Given the description of an element on the screen output the (x, y) to click on. 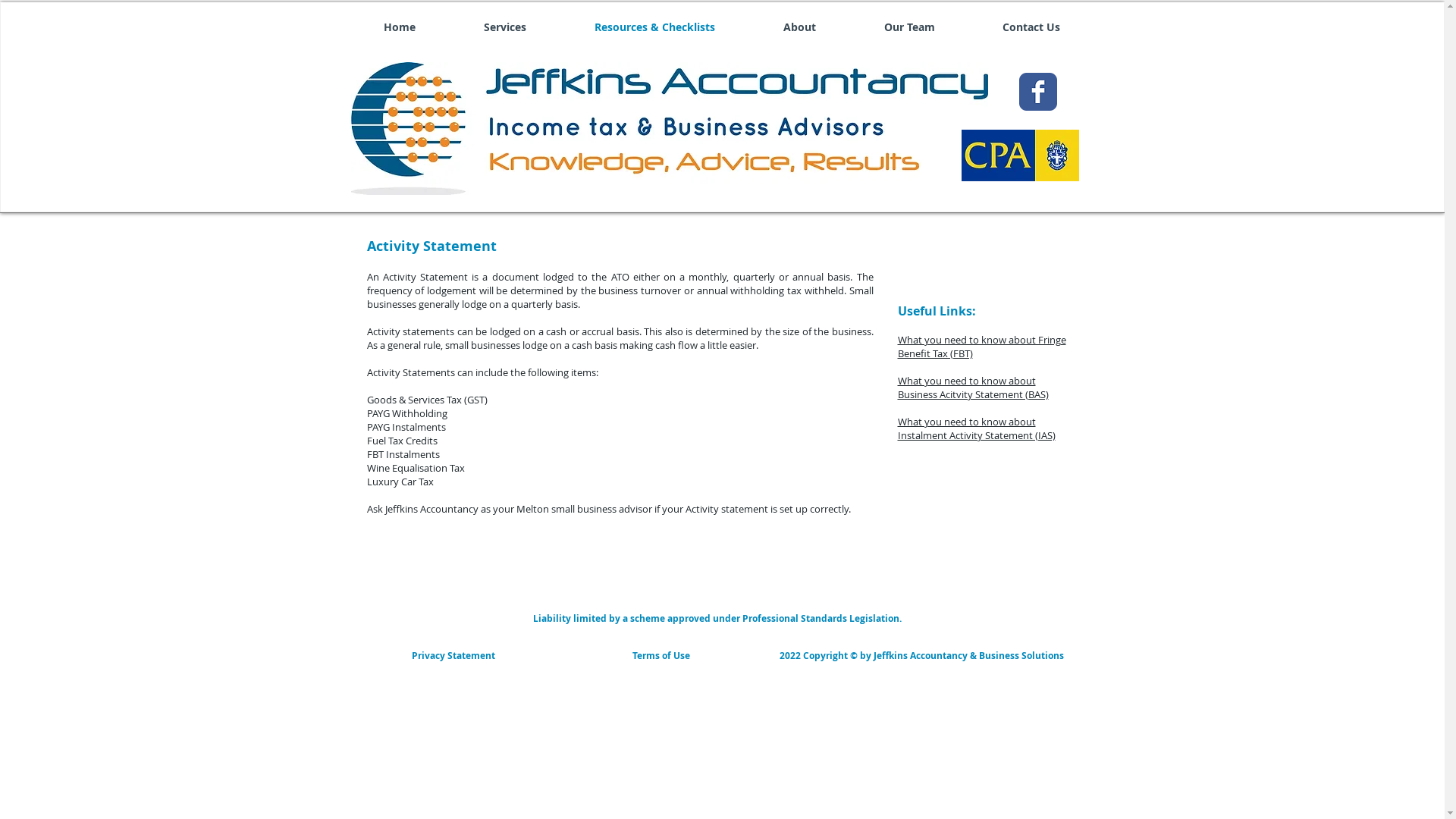
Goods & Services Tax (GST) Element type: text (427, 399)
Privacy Statement Element type: text (452, 655)
Fuel Tax Credits Element type: text (402, 440)
Resources & Checklists Element type: text (653, 26)
Terms of Use Element type: text (660, 655)
PAYG Withholding Element type: text (407, 413)
PAYG Instalments Element type: text (406, 426)
Contact Us Element type: text (1031, 26)
What you need to know about Fringe Benefit Tax (FBT) Element type: text (981, 346)
Services Element type: text (503, 26)
Home Element type: text (398, 26)
FBT Instalments Element type: text (403, 454)
About Element type: text (799, 26)
Our Team Element type: text (908, 26)
